Given the description of an element on the screen output the (x, y) to click on. 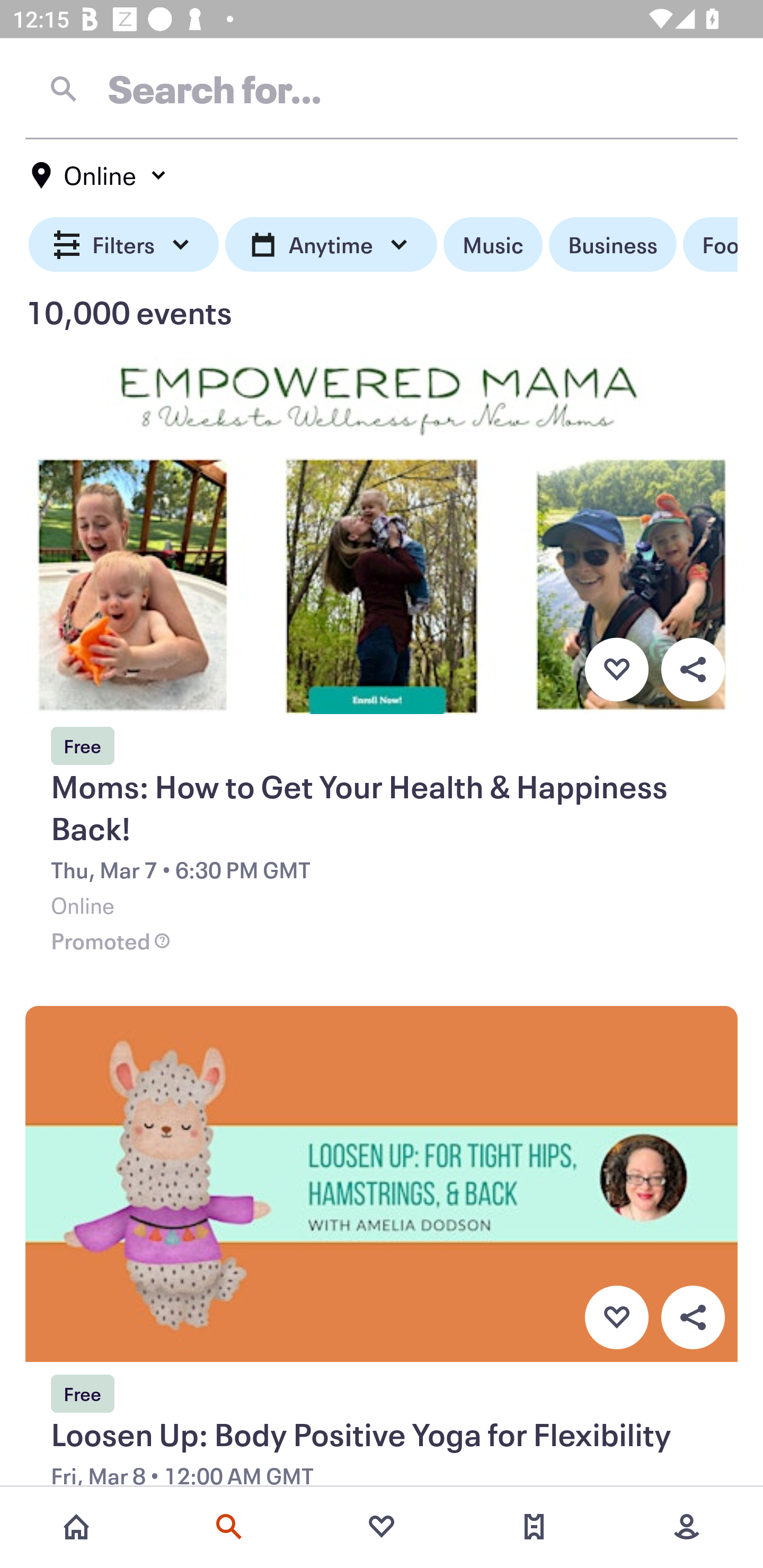
Search for… (381, 88)
Online (99, 175)
Filters (123, 244)
Anytime (331, 244)
Music (492, 244)
Business (612, 244)
Favorite button (616, 669)
Overflow menu button (692, 669)
Favorite button (616, 1317)
Overflow menu button (692, 1317)
Home (76, 1526)
Search events (228, 1526)
Favorites (381, 1526)
Tickets (533, 1526)
More (686, 1526)
